Given the description of an element on the screen output the (x, y) to click on. 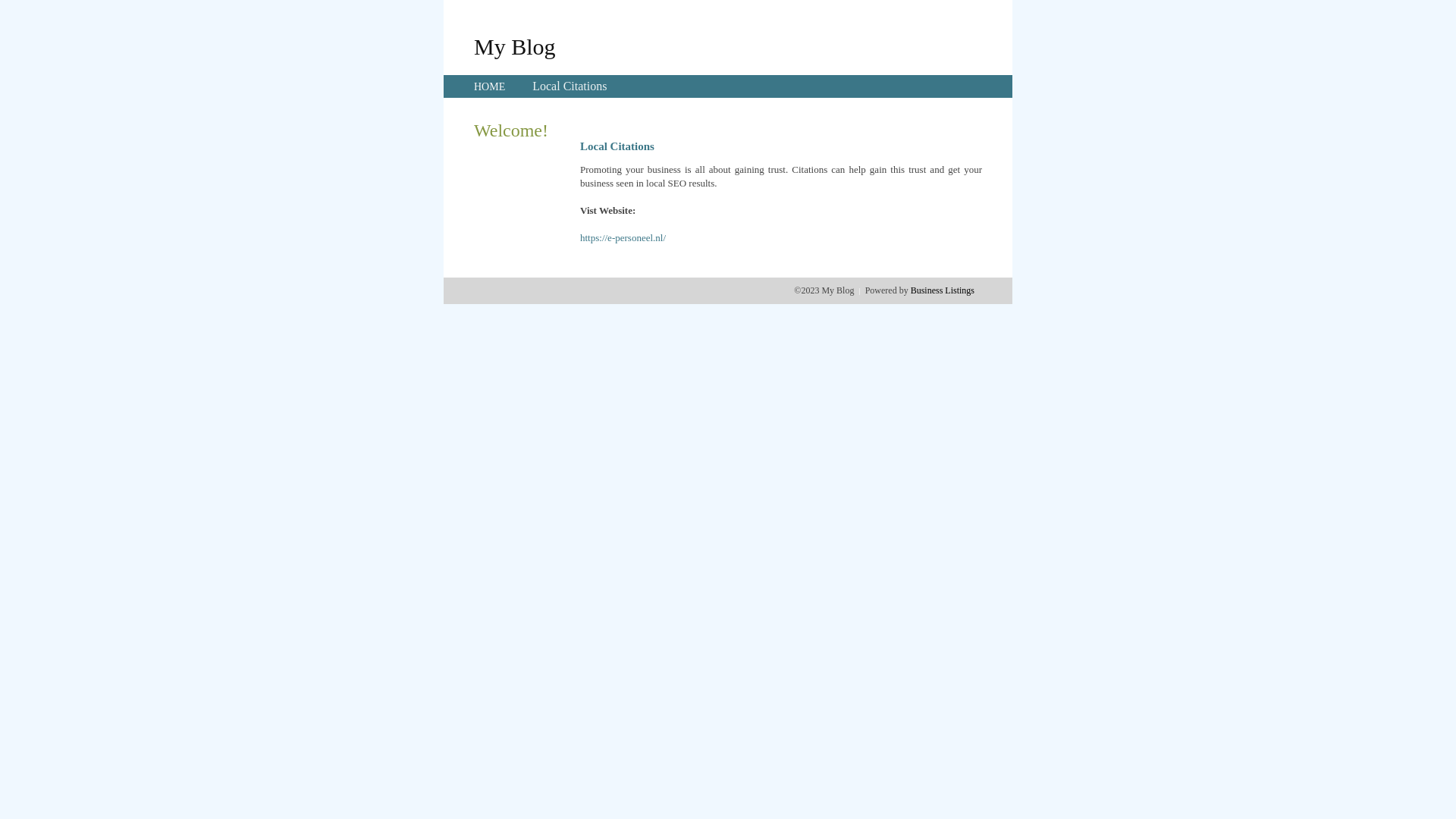
Business Listings Element type: text (942, 290)
HOME Element type: text (489, 86)
My Blog Element type: text (514, 46)
https://e-personeel.nl/ Element type: text (622, 237)
Local Citations Element type: text (569, 85)
